Given the description of an element on the screen output the (x, y) to click on. 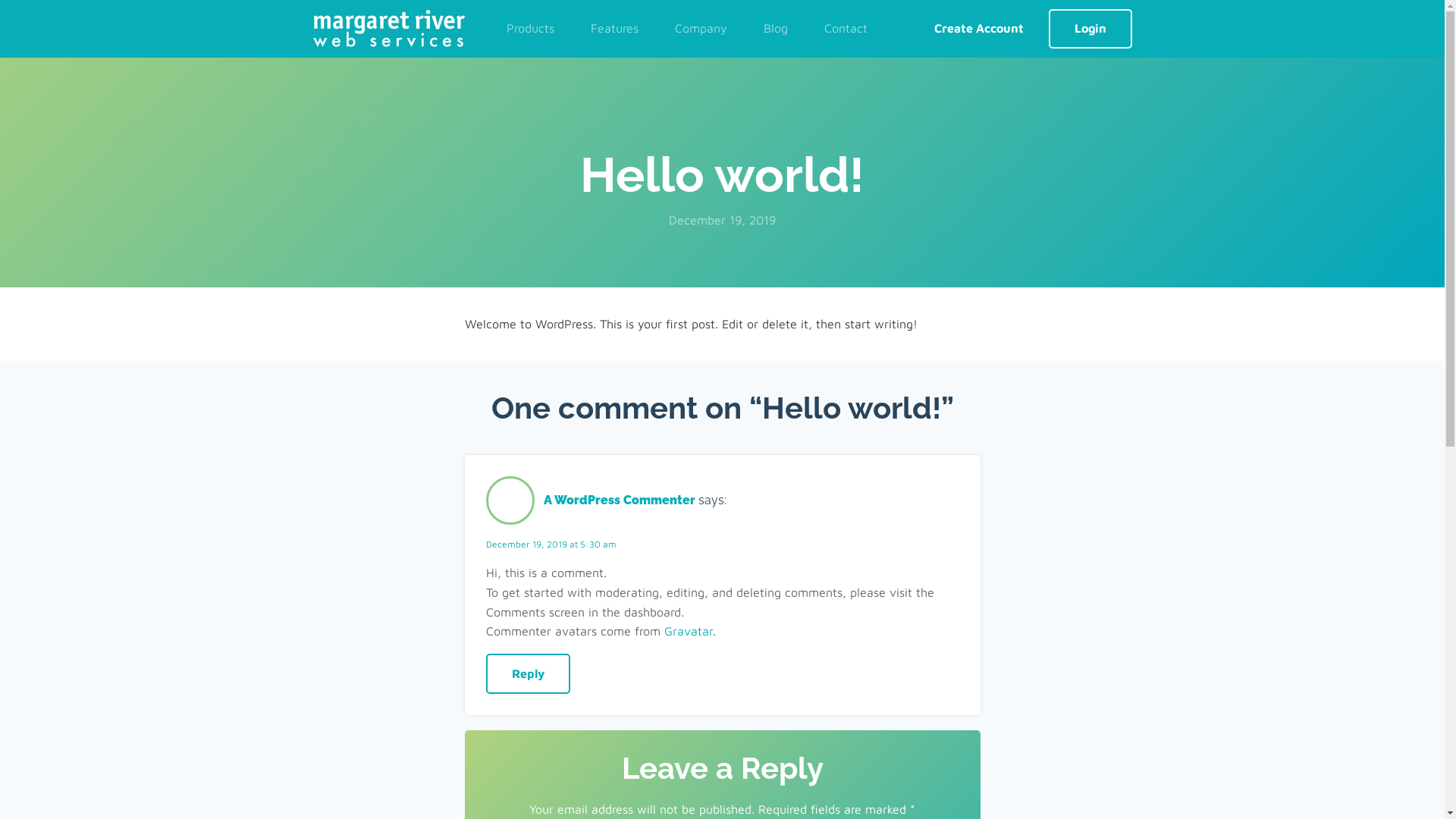
Features Element type: text (613, 28)
Blog Element type: text (774, 28)
Login Element type: text (1089, 28)
Gravatar Element type: text (688, 630)
Create Account Element type: text (978, 28)
Products Element type: text (530, 28)
December 19, 2019 at 5:30 am Element type: text (550, 543)
Reply Element type: text (527, 673)
Contact Element type: text (844, 28)
A WordPress Commenter Element type: text (618, 499)
Company Element type: text (700, 28)
